Given the description of an element on the screen output the (x, y) to click on. 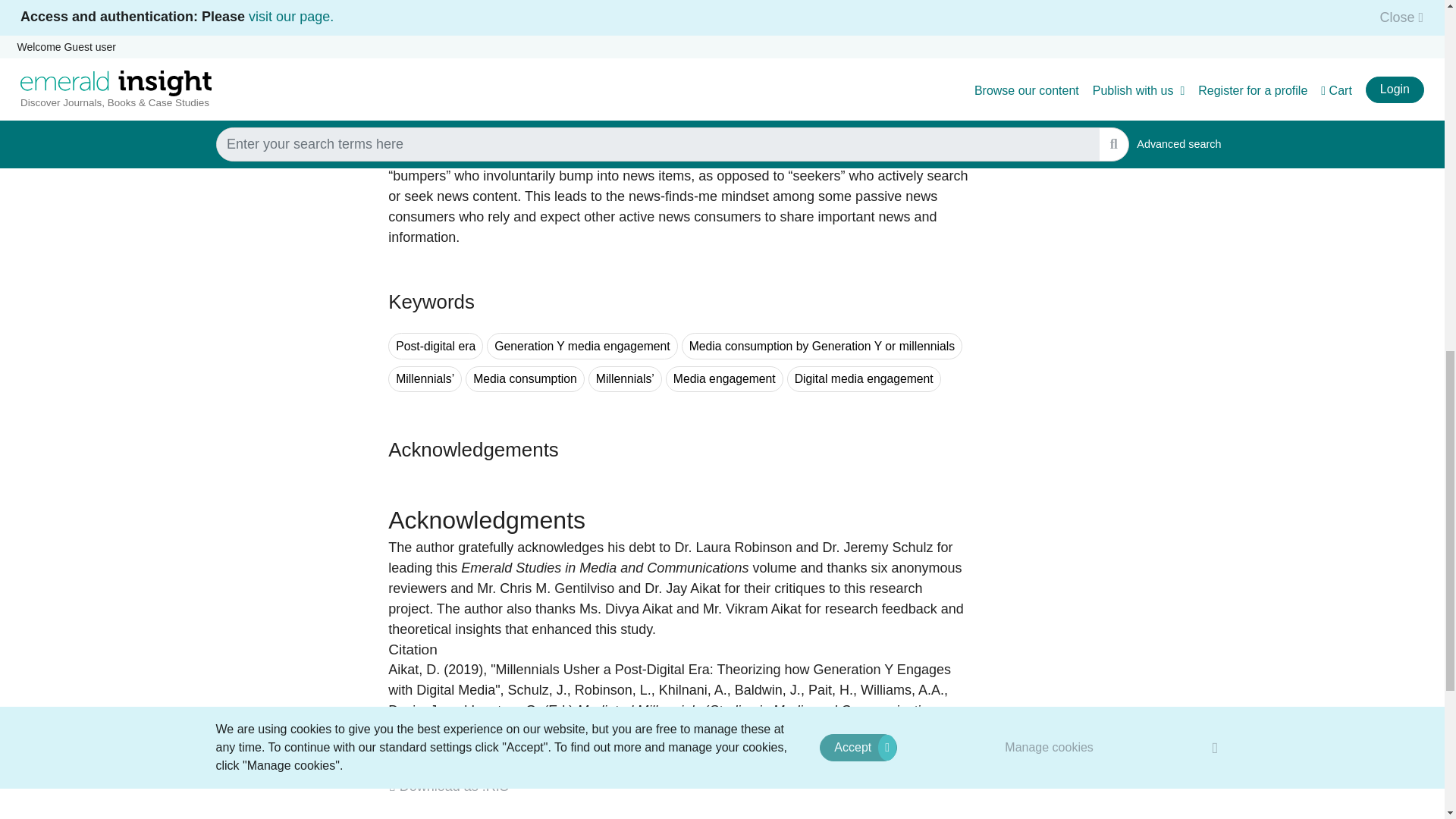
Search for keyword Generation Y media engagement (581, 345)
Jeremy Schulz (537, 689)
Search for keyword Media consumption (525, 379)
Search for keyword Post-digital era (435, 345)
Search for keyword Media engagement (724, 379)
Deb Aikat (413, 669)
Search for keyword Digital media engagement (863, 379)
Laura Robinson (612, 689)
